Given the description of an element on the screen output the (x, y) to click on. 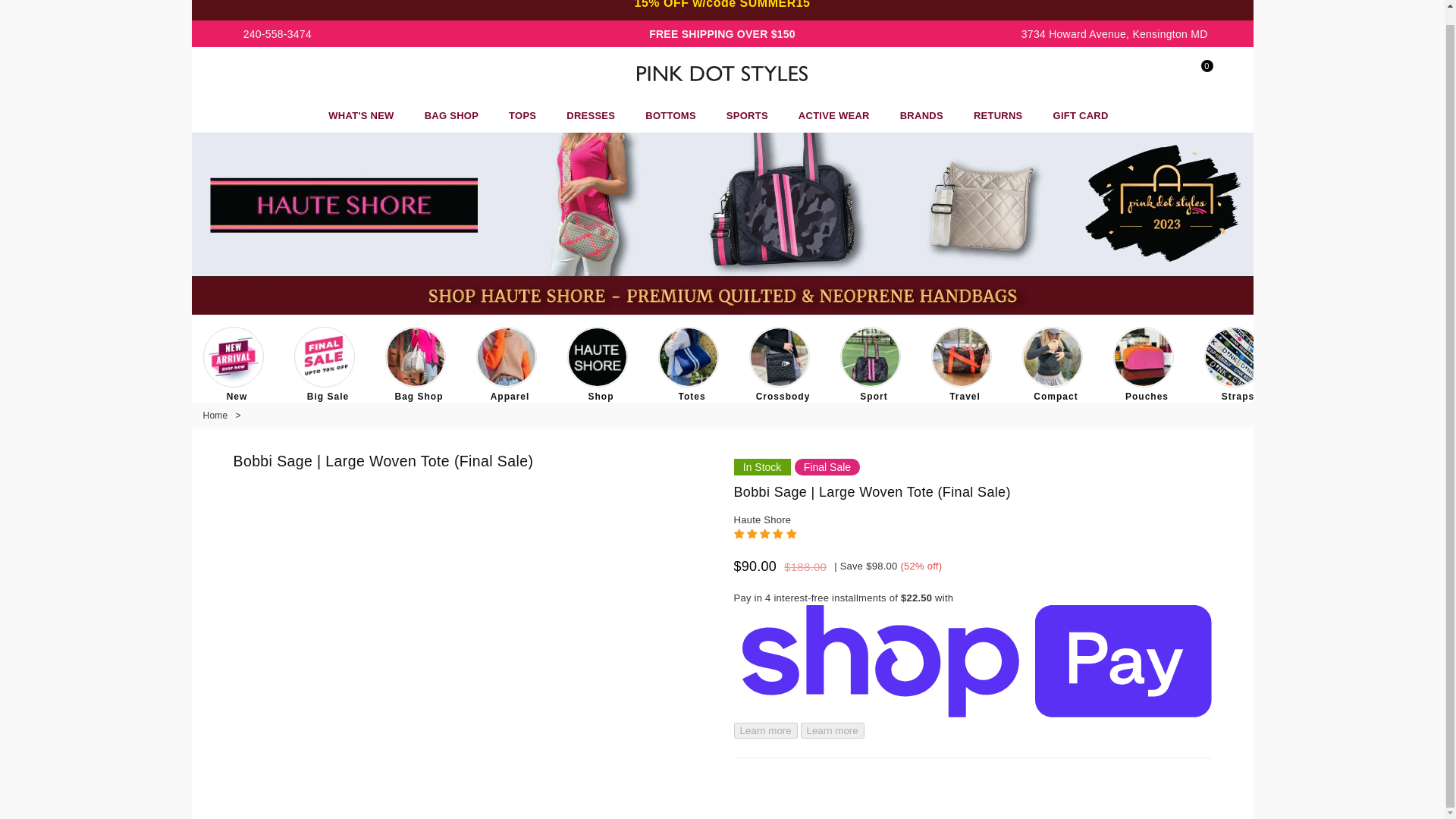
BAG SHOP (451, 115)
Back to the home page (216, 415)
PINK DOT STYLES (722, 73)
Search (1166, 73)
Haute Shore (762, 519)
240-558-3474 (273, 33)
WHAT'S NEW (360, 115)
Cart (1193, 73)
0 (1193, 73)
